Given the description of an element on the screen output the (x, y) to click on. 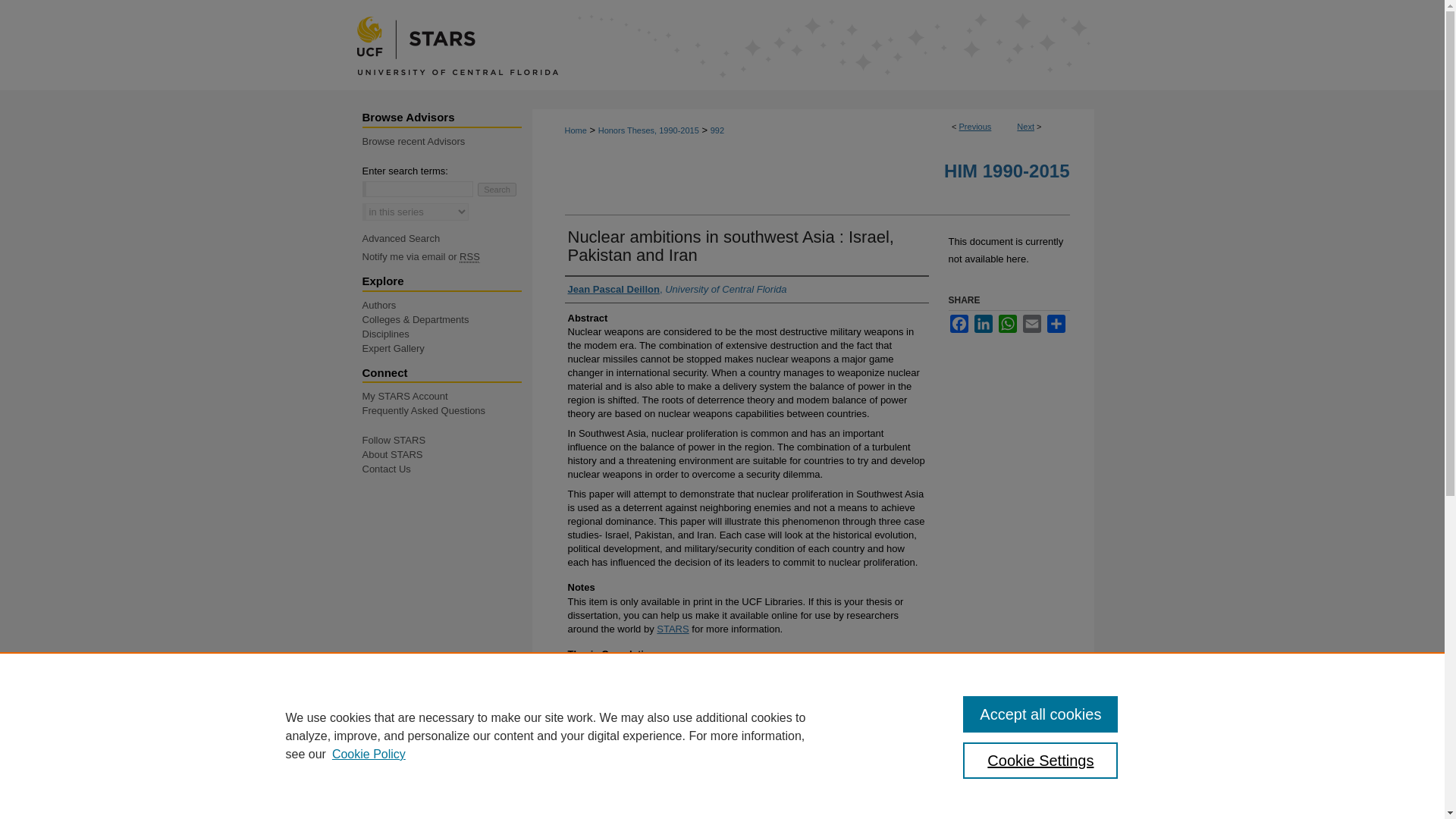
Share (1055, 323)
Next (1024, 126)
Honors Theses, 1990-2015 (648, 130)
STARS (721, 45)
Really Simple Syndication (470, 256)
Frequently Asked Questions (447, 410)
About STARS (447, 454)
Disciplines (447, 333)
Follow STARS (447, 439)
Frequently Asked Questions (447, 410)
Follow STARS (447, 439)
Notify me via email or RSS (447, 256)
Search (496, 189)
Search (496, 189)
My STARS Account (447, 396)
